Given the description of an element on the screen output the (x, y) to click on. 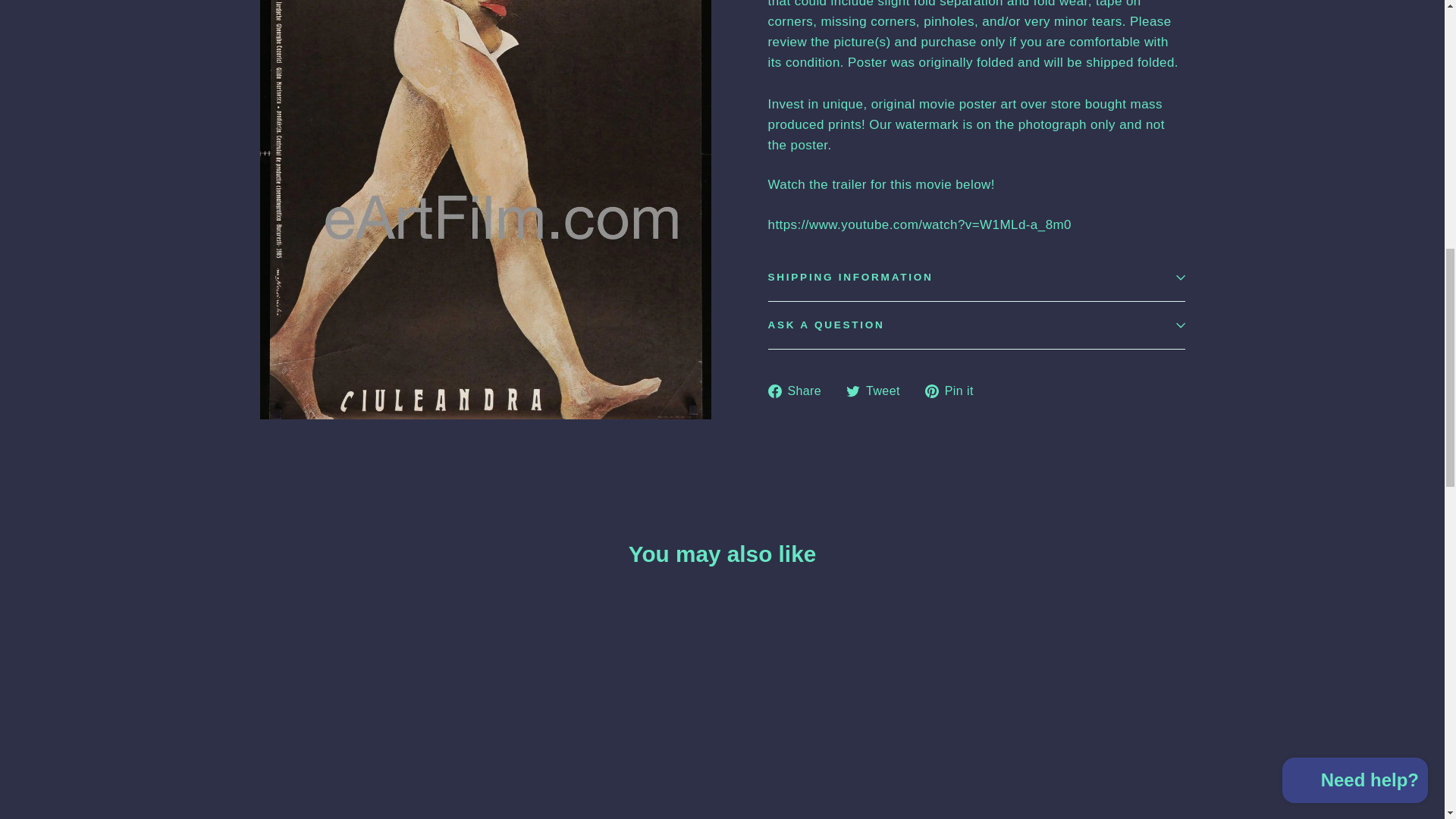
Share on Facebook (799, 390)
Pin on Pinterest (954, 390)
Tweet on Twitter (878, 390)
twitter (852, 391)
